Given the description of an element on the screen output the (x, y) to click on. 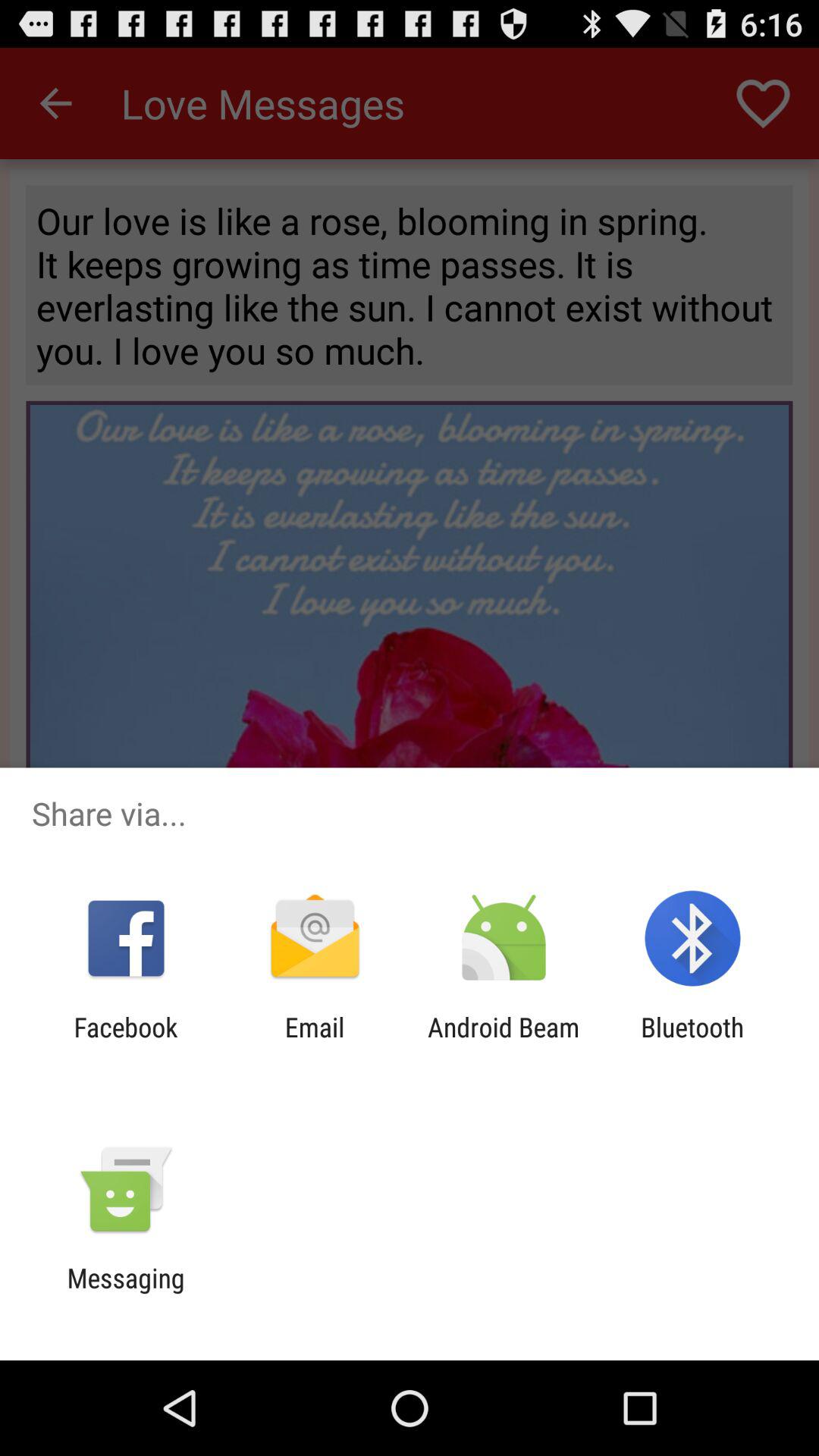
turn on the bluetooth item (691, 1042)
